Given the description of an element on the screen output the (x, y) to click on. 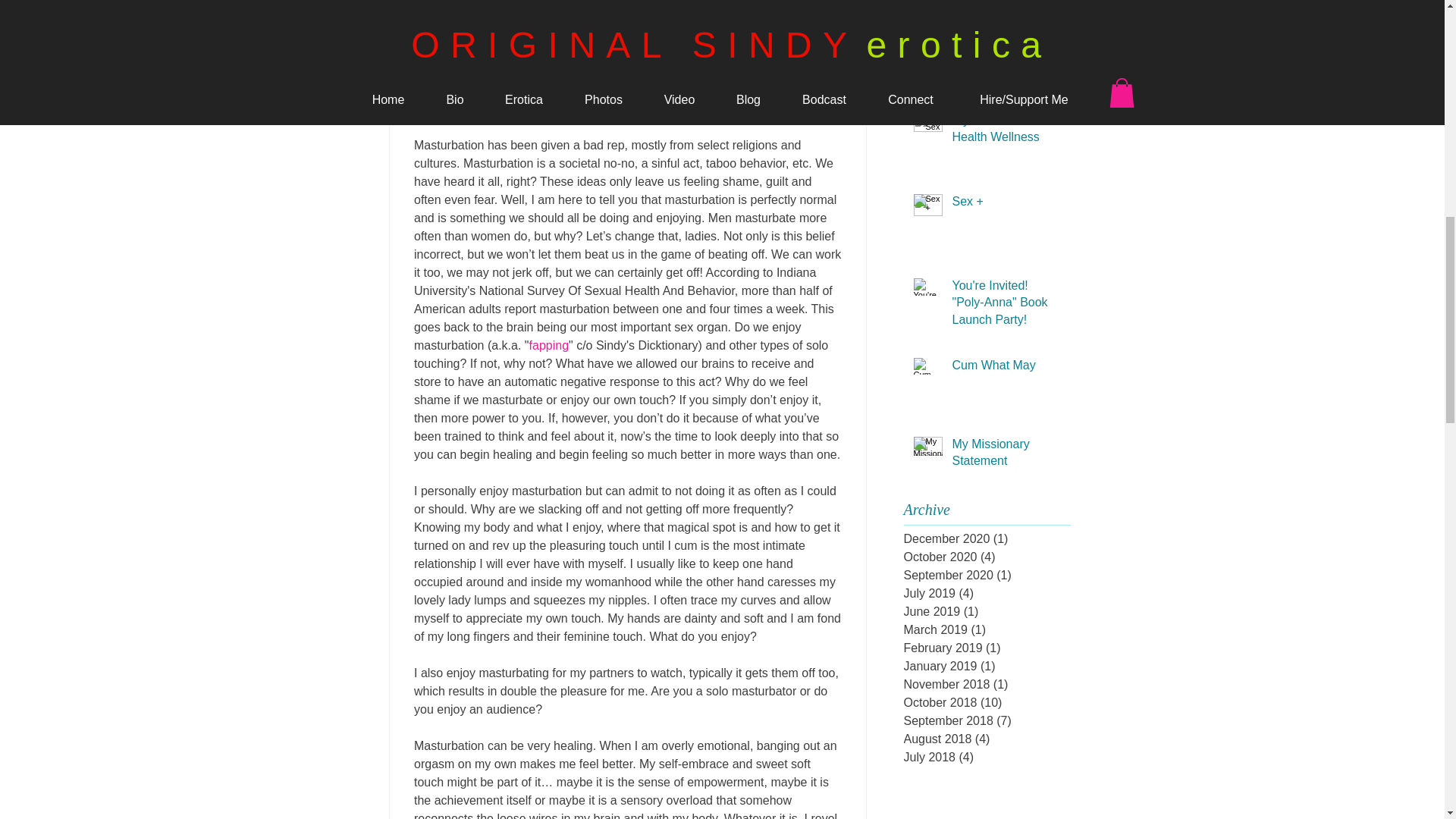
fapping (548, 345)
